Given the description of an element on the screen output the (x, y) to click on. 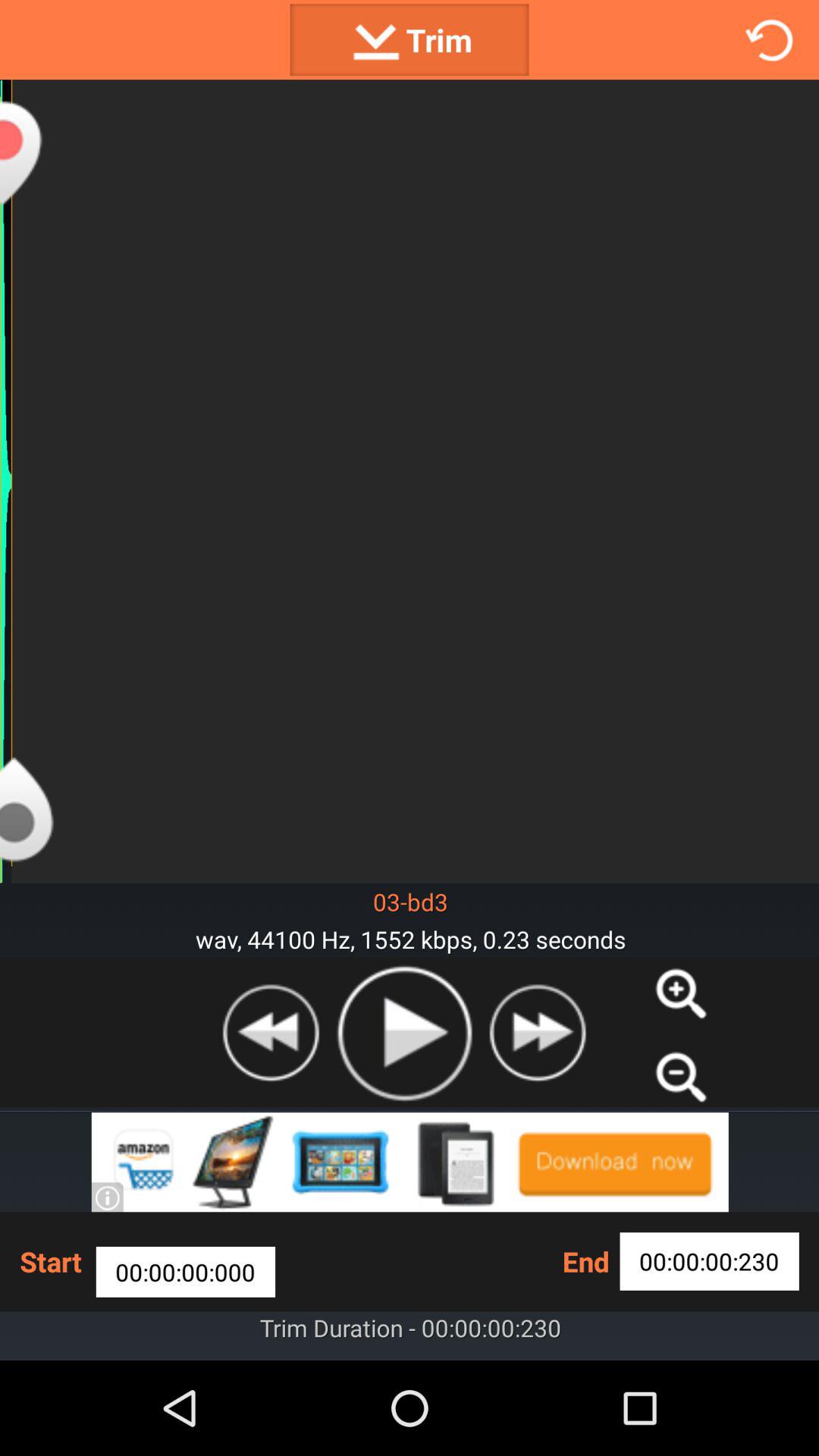
reload option (768, 39)
